Given the description of an element on the screen output the (x, y) to click on. 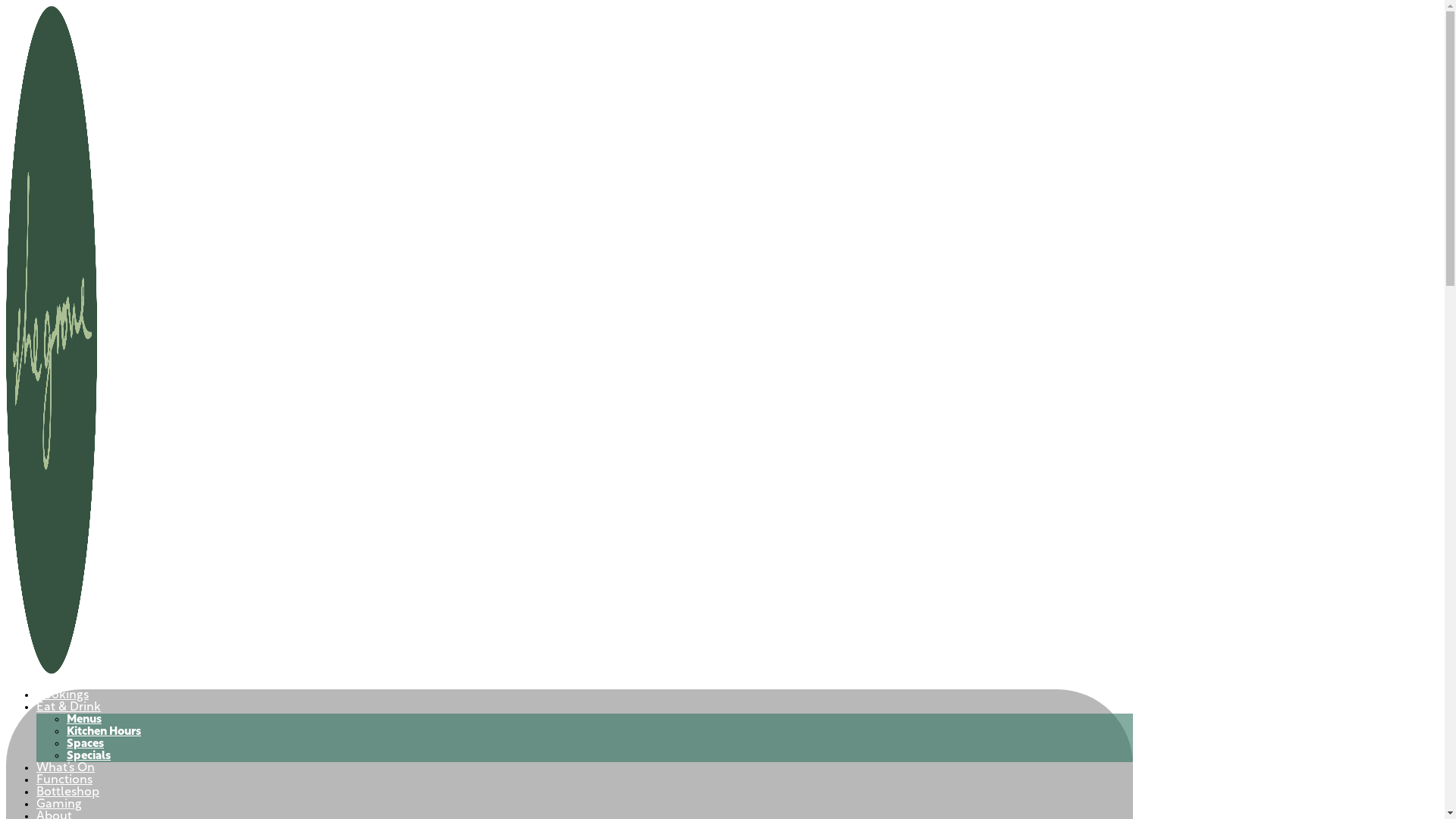
Eat & Drink Element type: text (68, 707)
Functions Element type: text (64, 780)
Bottleshop Element type: text (67, 792)
Menus Element type: text (83, 719)
Bookings Element type: text (62, 695)
Spaces Element type: text (84, 743)
Specials Element type: text (88, 756)
Kitchen Hours Element type: text (103, 731)
